Given the description of an element on the screen output the (x, y) to click on. 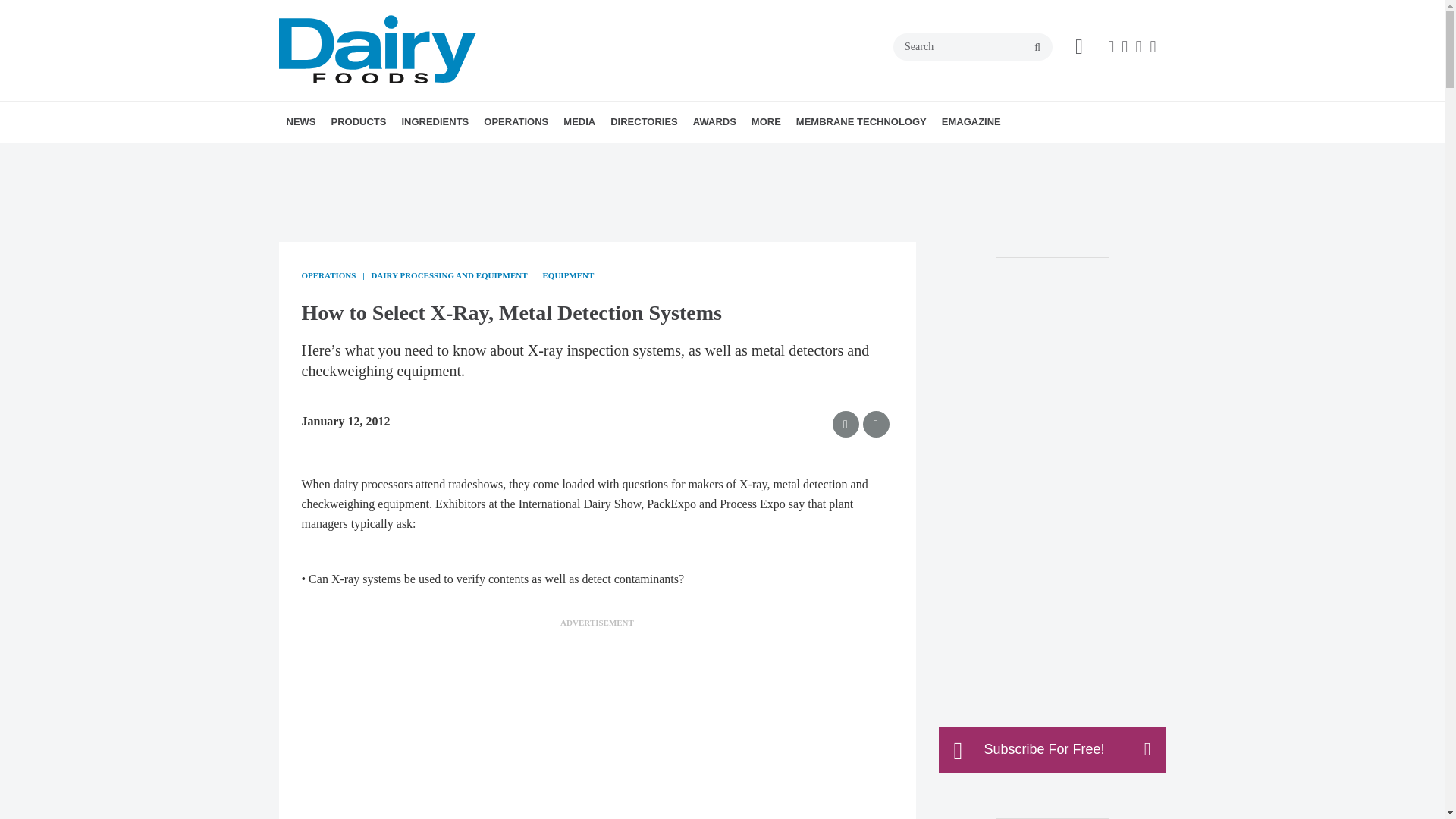
PROBIOTICS (528, 155)
NON-DAIRY BEVERAGES (452, 155)
SWEETENERS (530, 155)
COCOA (488, 155)
NEW PRODUCTS (417, 155)
BUTTER (424, 155)
Search (972, 46)
DAIRY ALTERNATIVES (461, 155)
PREBIOTICS (525, 155)
CHEESE (430, 155)
